Given the description of an element on the screen output the (x, y) to click on. 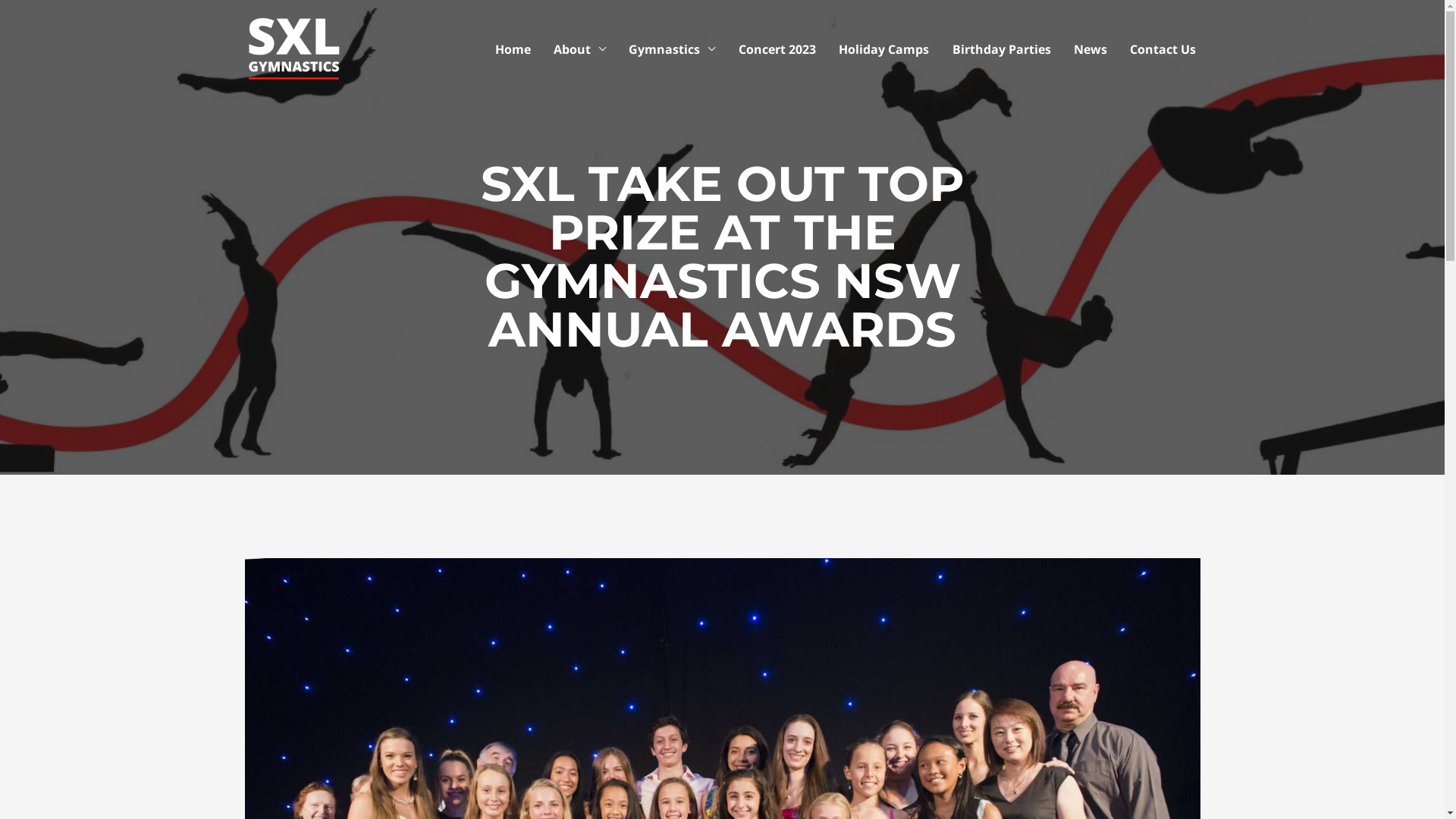
Birthday Parties Element type: text (1000, 48)
News Element type: text (1090, 48)
Gymnastics Element type: text (671, 48)
Contact Us Element type: text (1162, 48)
Concert 2023 Element type: text (777, 48)
About Element type: text (579, 48)
Holiday Camps Element type: text (883, 48)
Home Element type: text (512, 48)
